Given the description of an element on the screen output the (x, y) to click on. 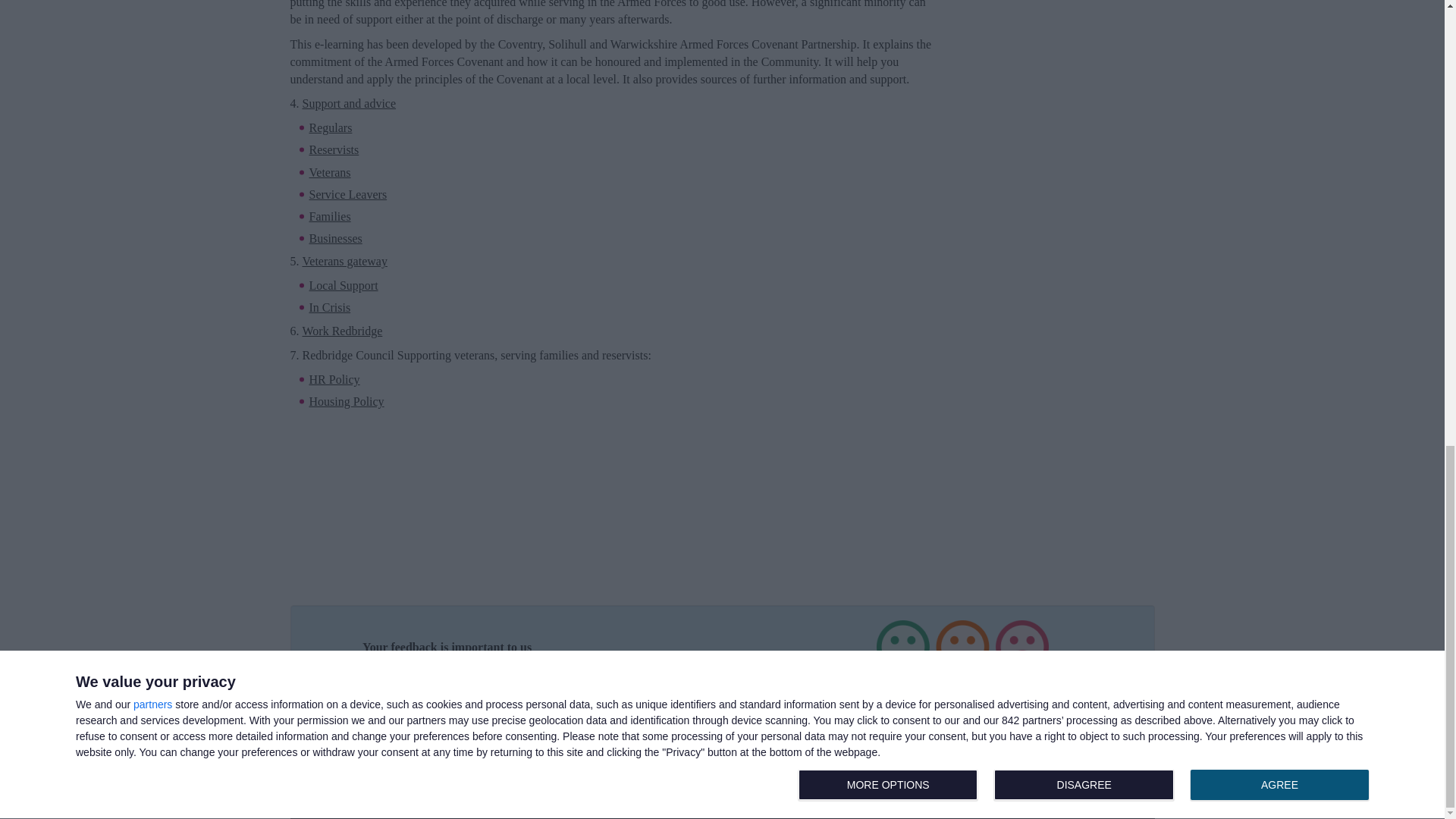
Feedback (867, 719)
Veterans (329, 172)
Service leavers (347, 194)
Regulars (330, 127)
Support and advice (348, 104)
Reservists (333, 149)
Privacy and cookies (739, 749)
In Crisis (721, 650)
Share your feedback (329, 307)
About accessibility (721, 650)
Businesses (739, 734)
Accessibility Statement (335, 237)
Contact us (739, 719)
Families (739, 765)
